Given the description of an element on the screen output the (x, y) to click on. 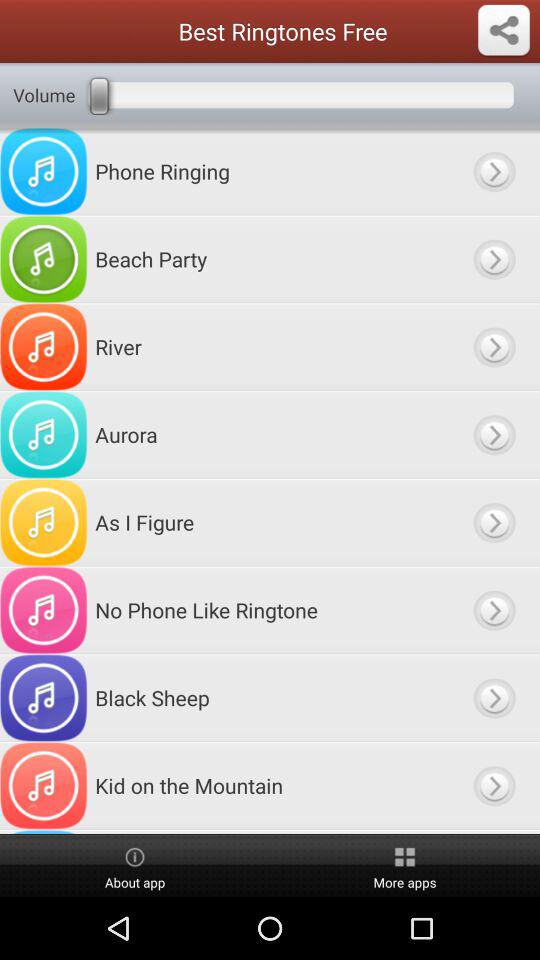
choose this option (494, 610)
